Given the description of an element on the screen output the (x, y) to click on. 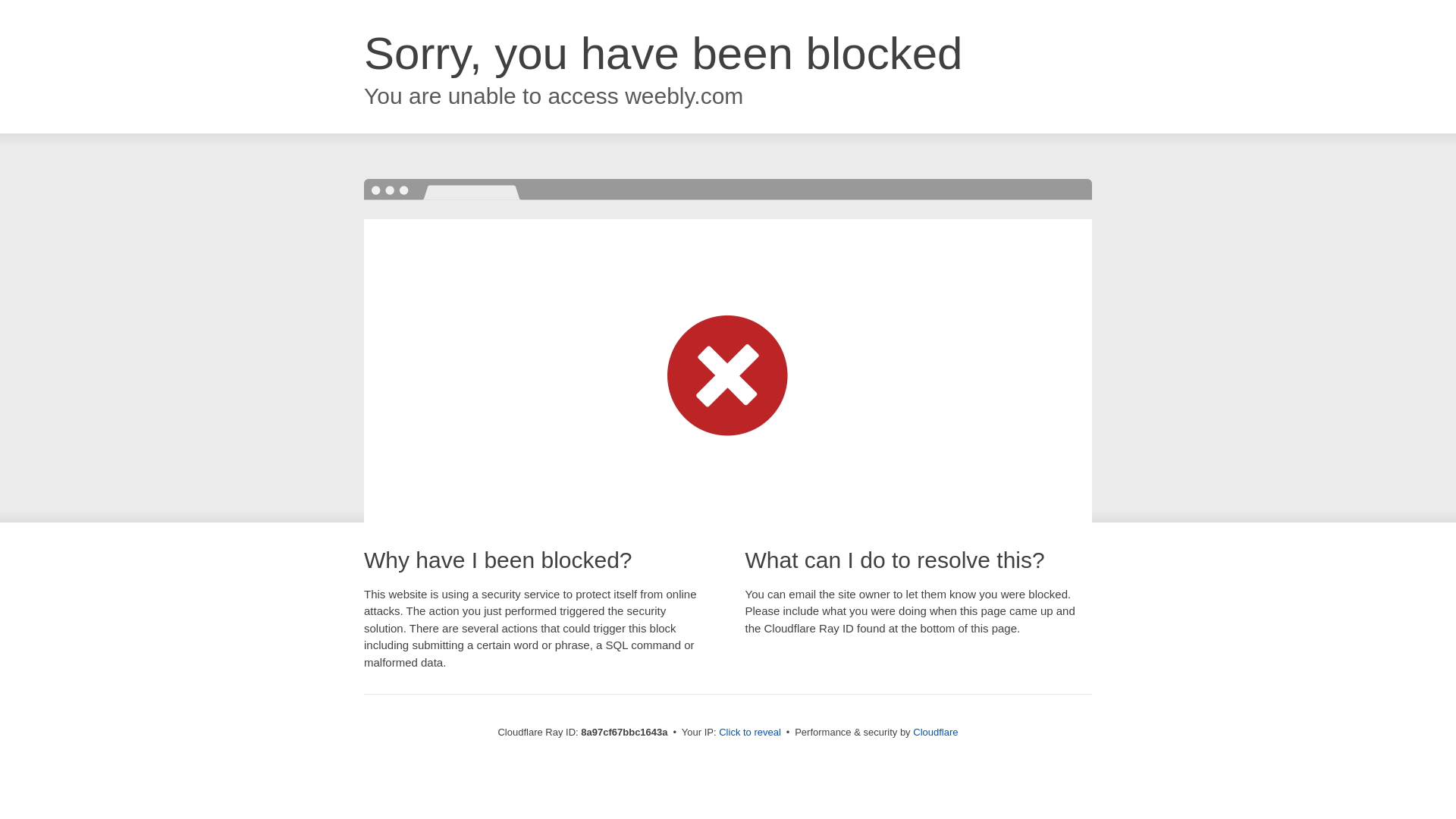
Click to reveal (749, 732)
Cloudflare (935, 731)
